Given the description of an element on the screen output the (x, y) to click on. 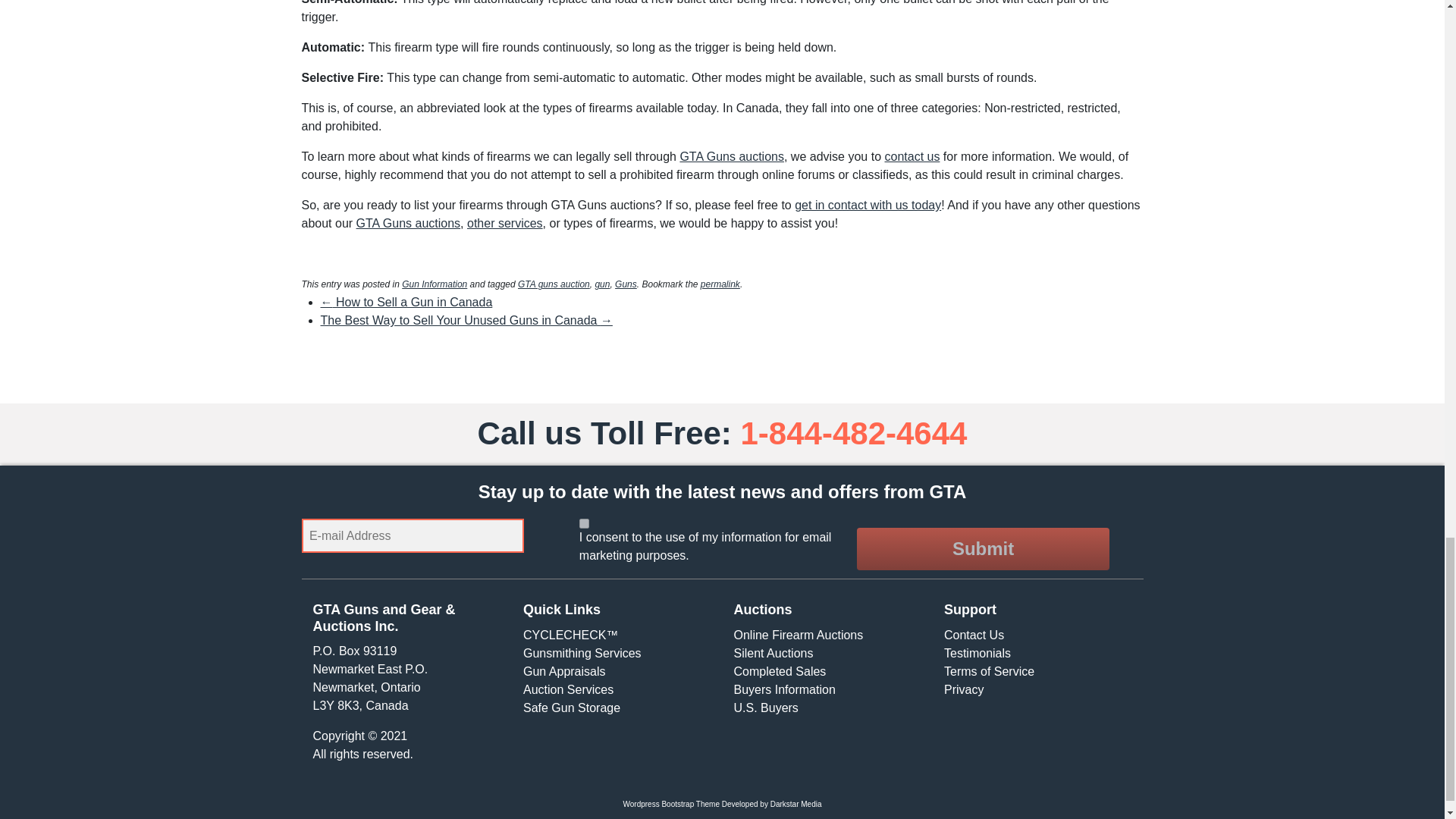
other services (505, 223)
contact us (911, 155)
get in contact with us today (867, 205)
GTA Guns auctions (408, 223)
GTA Guns auctions (731, 155)
1 (584, 523)
